Given the description of an element on the screen output the (x, y) to click on. 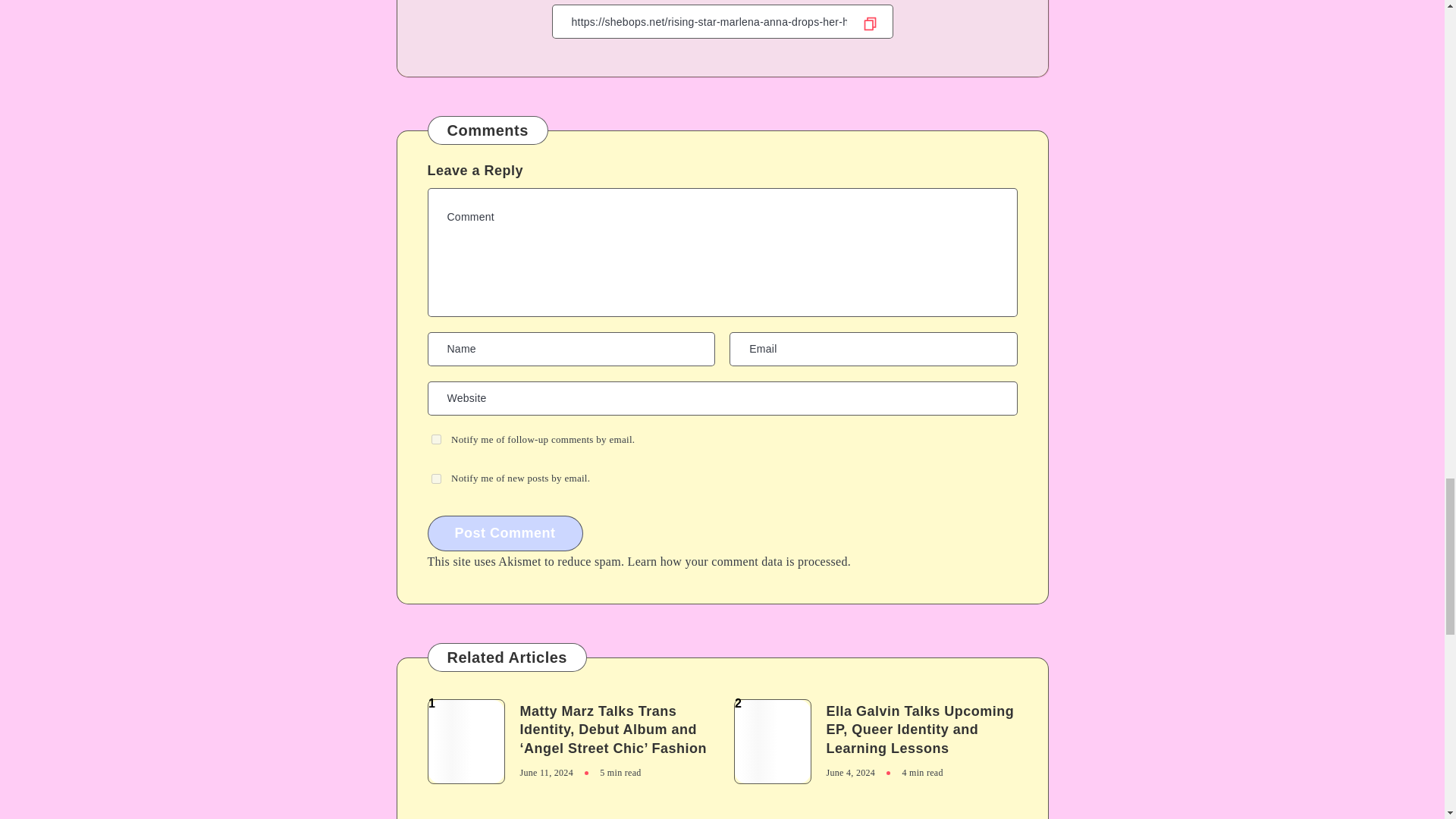
Post Comment (505, 533)
subscribe (435, 439)
subscribe (435, 479)
